Given the description of an element on the screen output the (x, y) to click on. 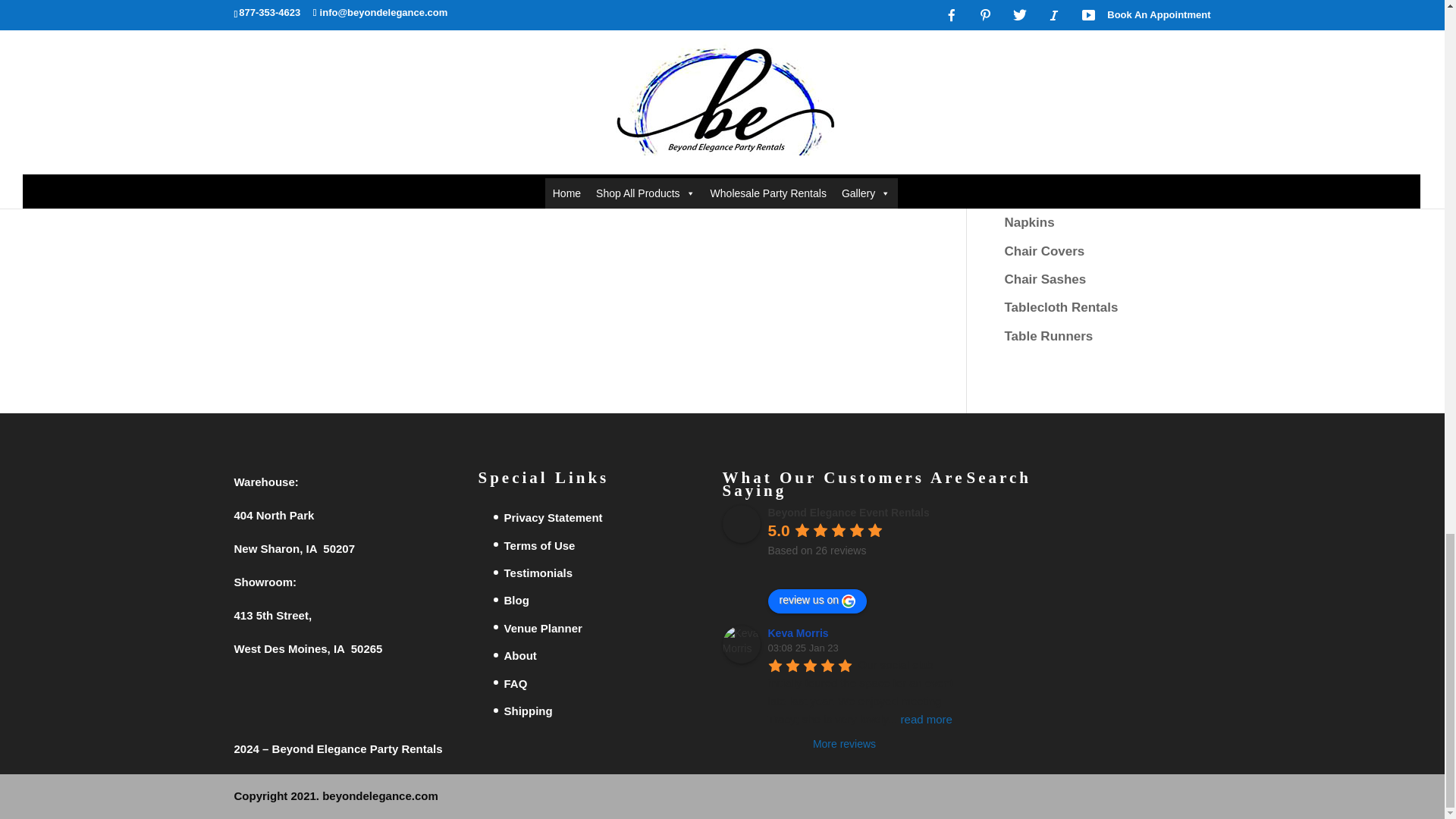
powered by Google (821, 569)
Keva Morris (741, 644)
Beyond Elegance Event Rentals (741, 523)
